Given the description of an element on the screen output the (x, y) to click on. 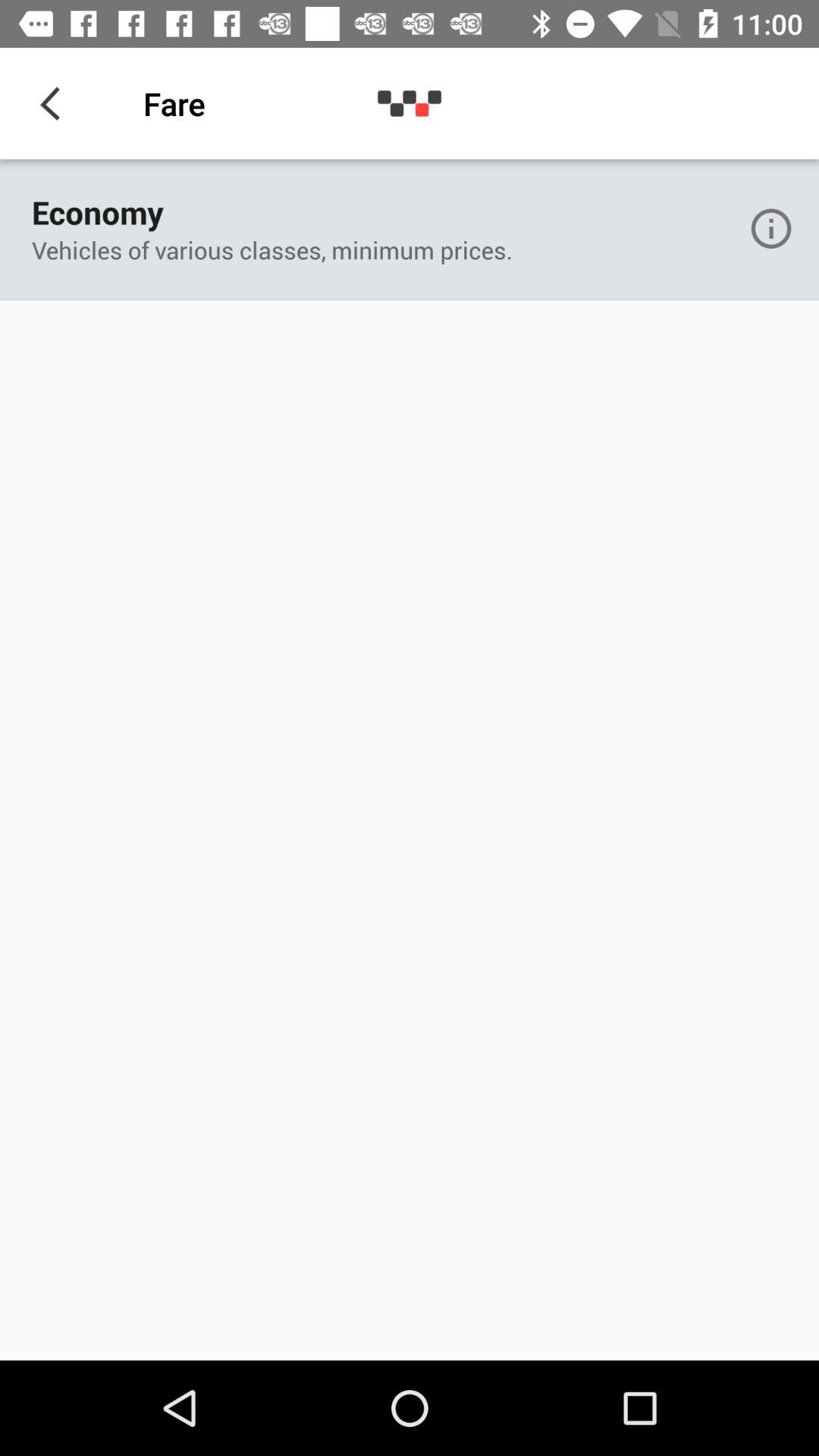
click the icon above the economy item (55, 103)
